Given the description of an element on the screen output the (x, y) to click on. 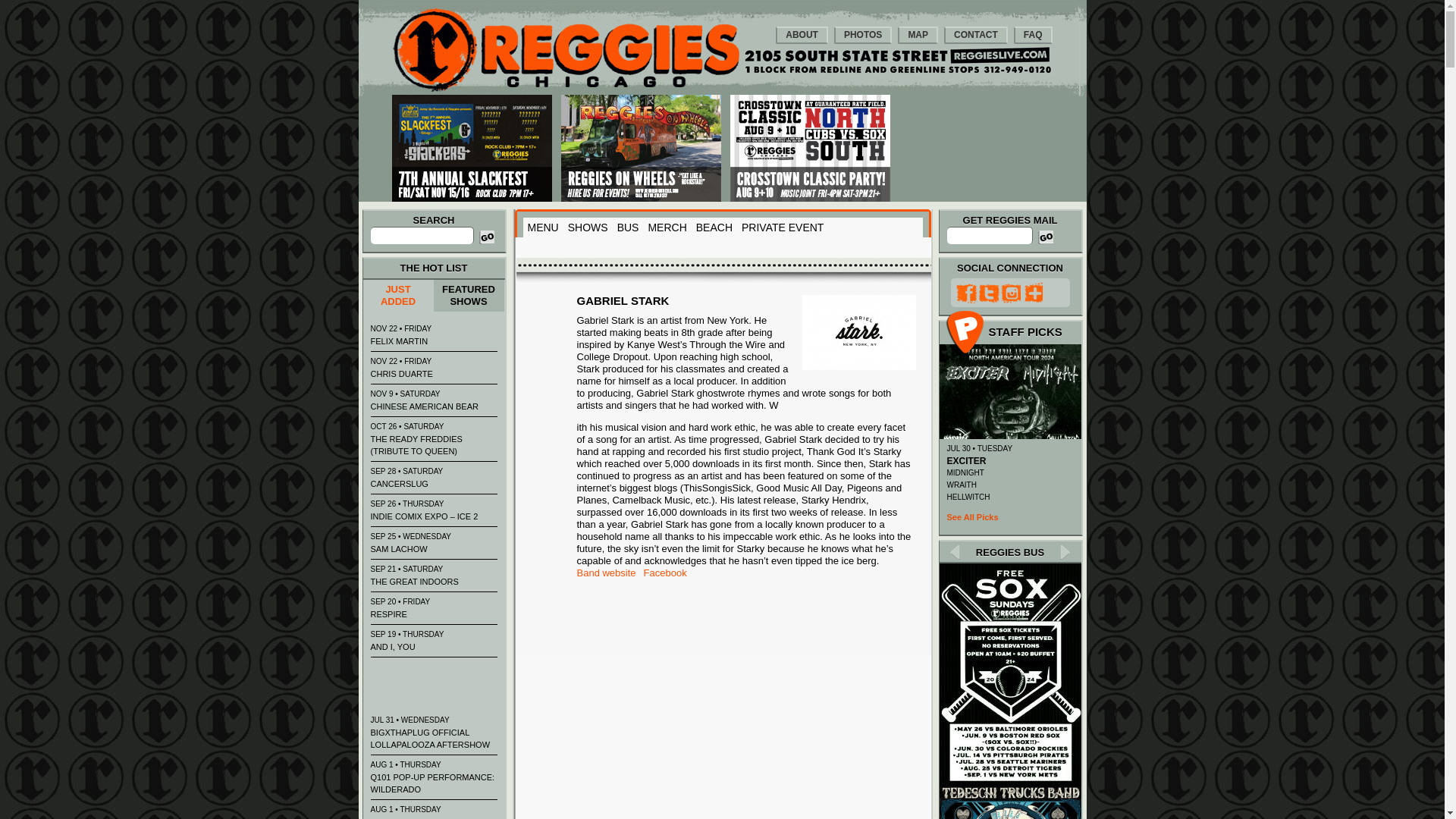
PRIVATE EVENT (782, 227)
Reggies Chicago (566, 88)
MENU (542, 227)
Instagram (1008, 292)
PHOTOS (862, 35)
Skip to primary content (443, 6)
ABOUT (802, 35)
Submit (1045, 237)
MERCH (666, 227)
FAQ (1032, 35)
SHOWS (587, 227)
BEACH (713, 227)
Skip to secondary content (449, 6)
Submit (1045, 237)
BUS (627, 227)
